Given the description of an element on the screen output the (x, y) to click on. 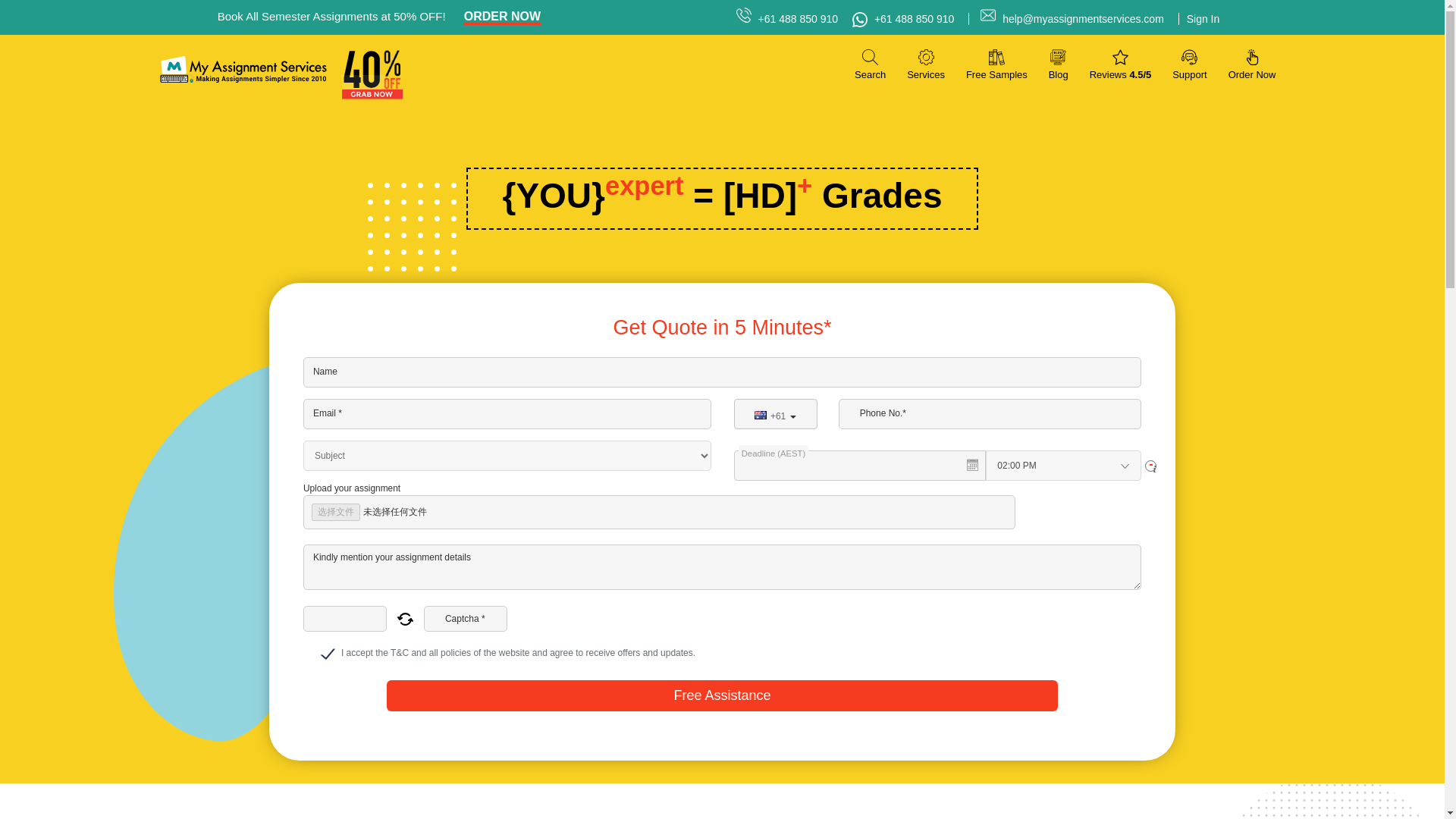
Search (869, 63)
Sign In (1198, 19)
Services (925, 63)
Assignment Help (242, 69)
